Given the description of an element on the screen output the (x, y) to click on. 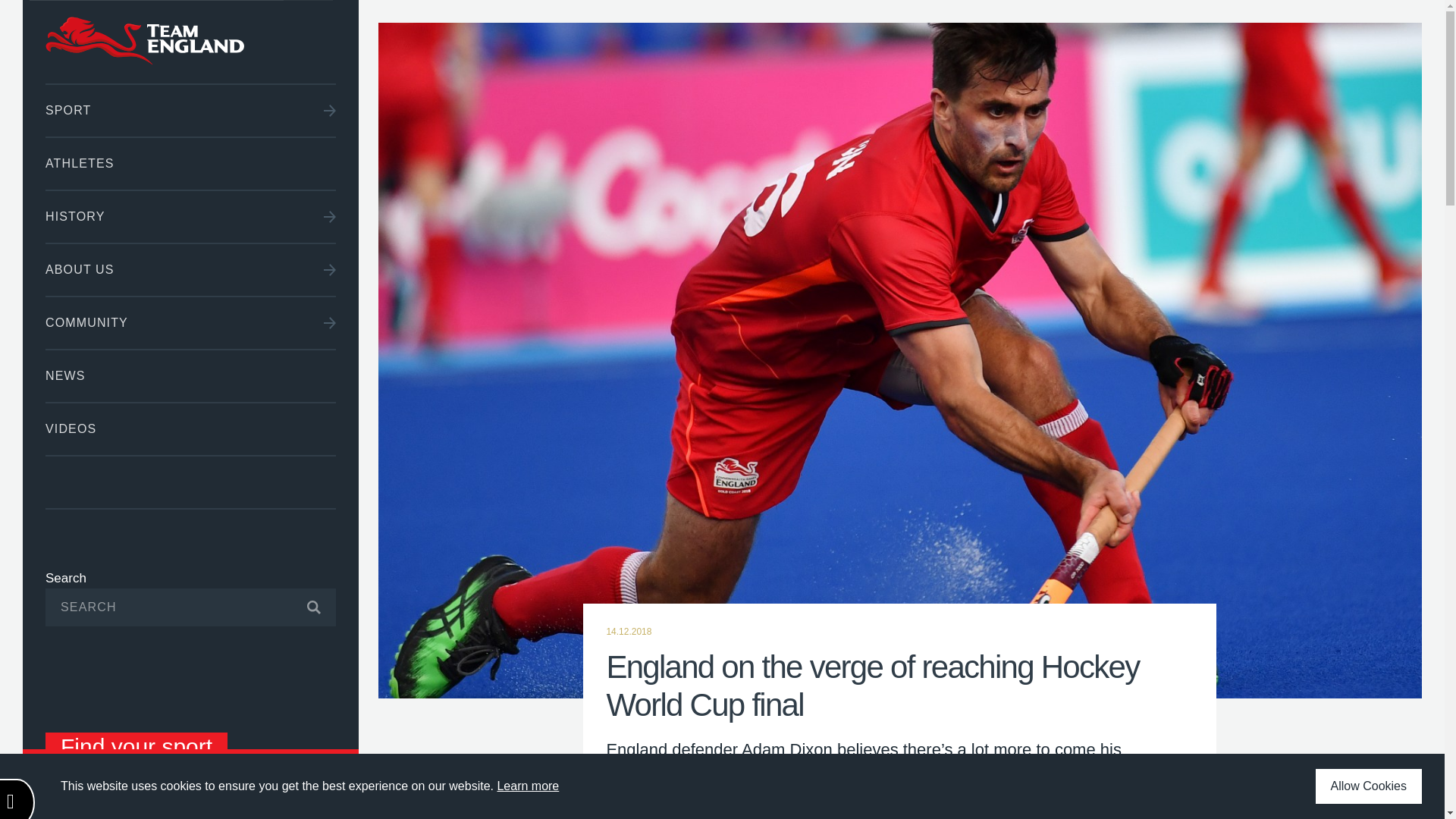
Subscribe (301, 607)
SPORT (190, 110)
Subscribe (301, 607)
Commonwealth Games England (190, 41)
